Given the description of an element on the screen output the (x, y) to click on. 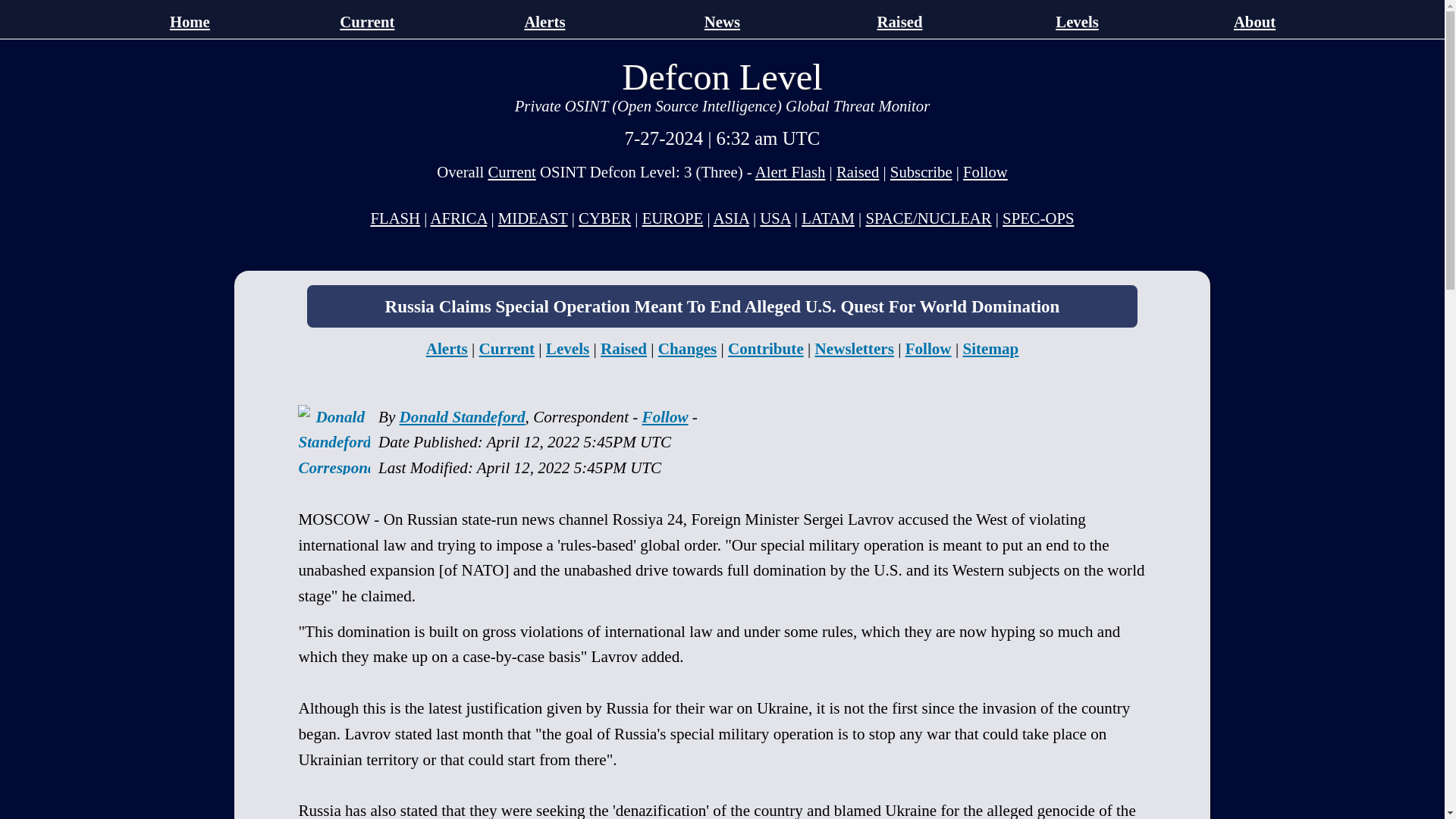
AFRICA (457, 217)
Europe (672, 217)
Space (927, 217)
Breaking News (394, 217)
Alerts (544, 21)
News (721, 21)
Cyber (604, 217)
Sitemap (989, 348)
LATAM (828, 217)
South America (828, 217)
About (1254, 21)
Donald Standeford (461, 416)
Changes (687, 348)
Middle East (775, 217)
Current (511, 171)
